Given the description of an element on the screen output the (x, y) to click on. 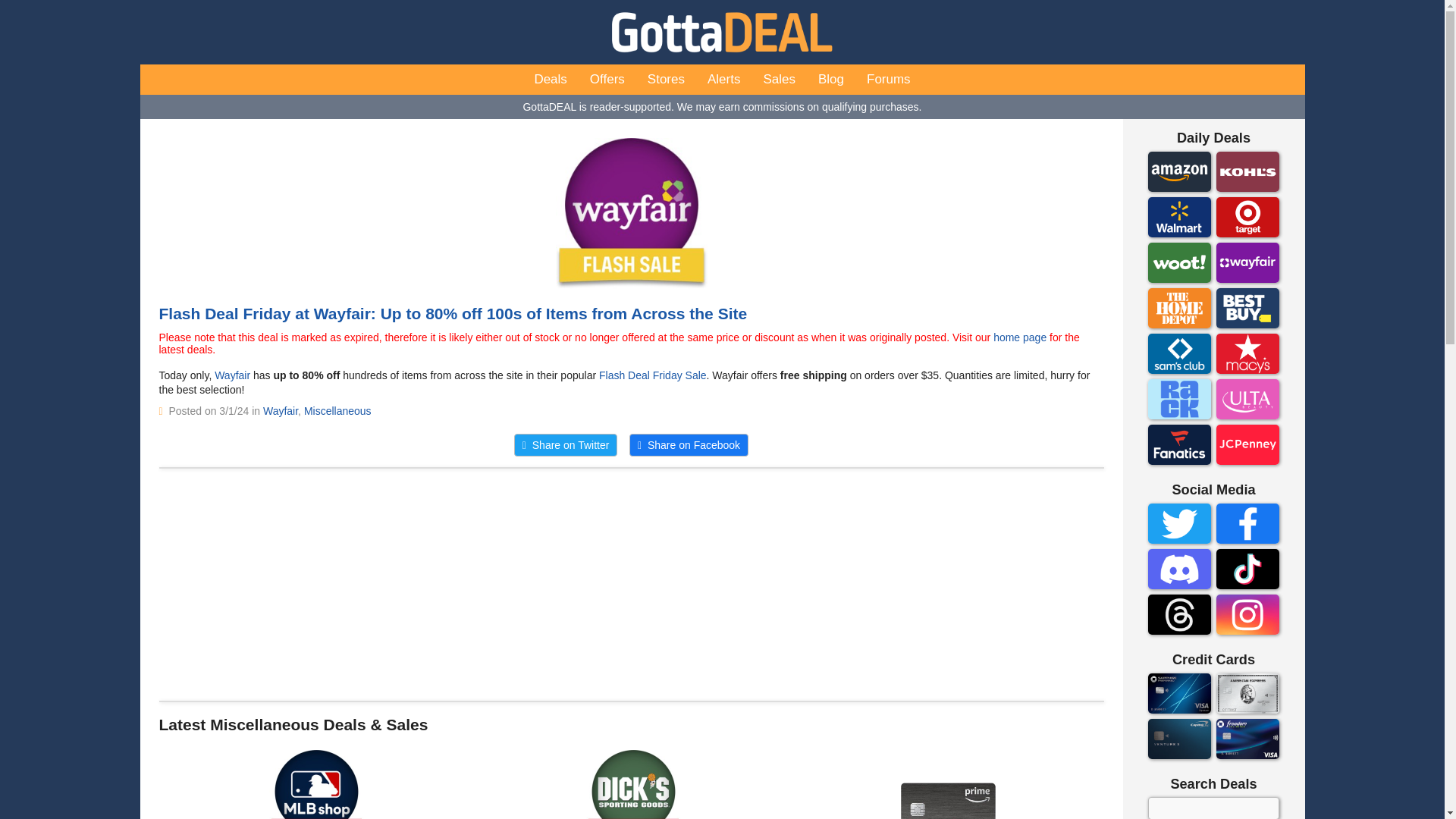
Miscellaneous (337, 410)
Wayfair (232, 375)
Alerts (723, 79)
Flash Deal Friday Sale (652, 375)
Offers (607, 79)
Sales (778, 79)
  Share on Facebook (688, 445)
Deals (550, 79)
Blog (831, 79)
Wayfair (280, 410)
  Share on Twitter (565, 445)
Stores (665, 79)
Forums (888, 79)
